Given the description of an element on the screen output the (x, y) to click on. 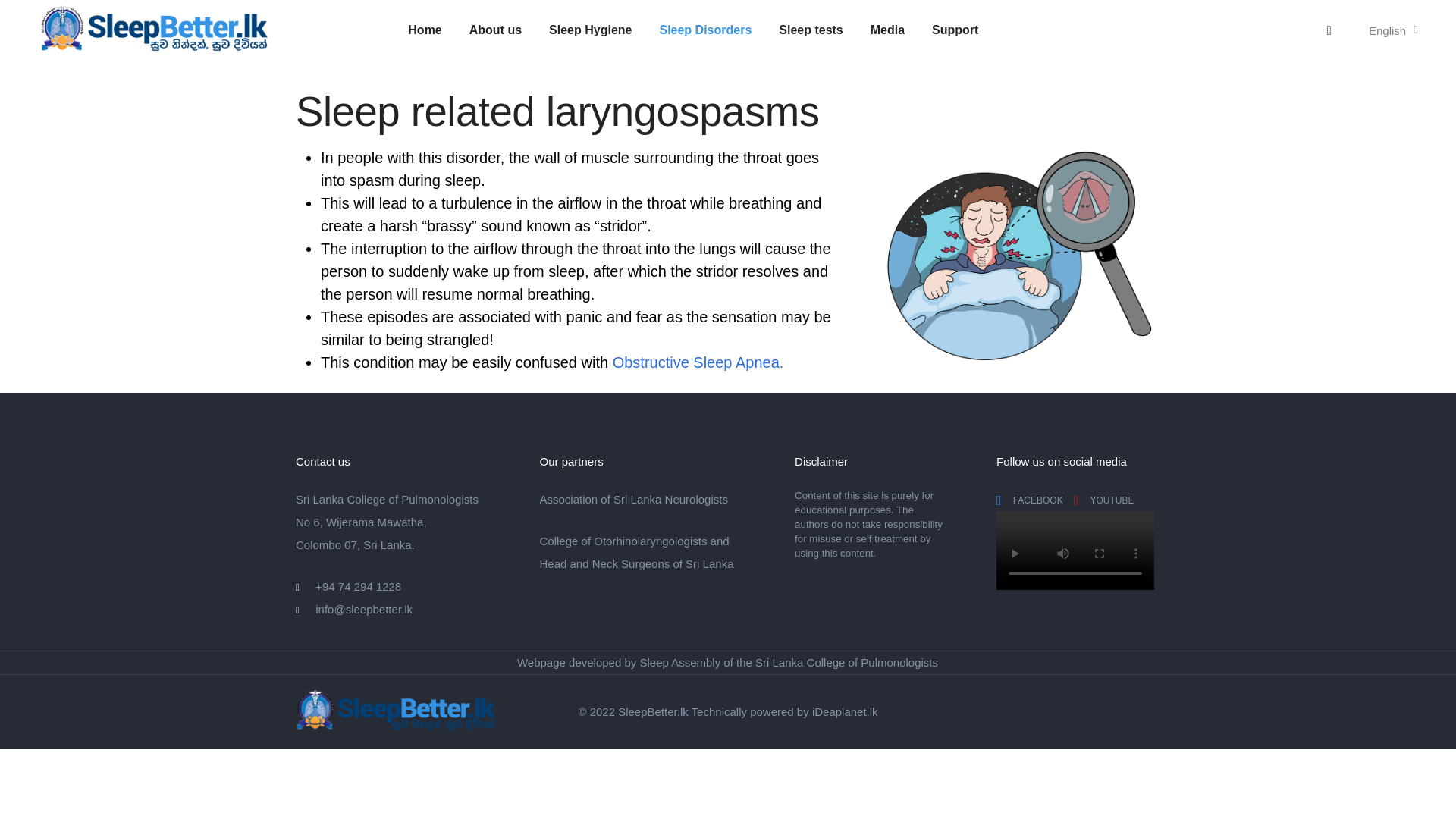
Obstructive Sleep Apnea. (698, 362)
Sleep Disorders (705, 30)
English (1389, 29)
Association of Sri Lanka Neurologists (634, 499)
Sleep tests (810, 30)
Sleep Hygiene (589, 30)
